Given the description of an element on the screen output the (x, y) to click on. 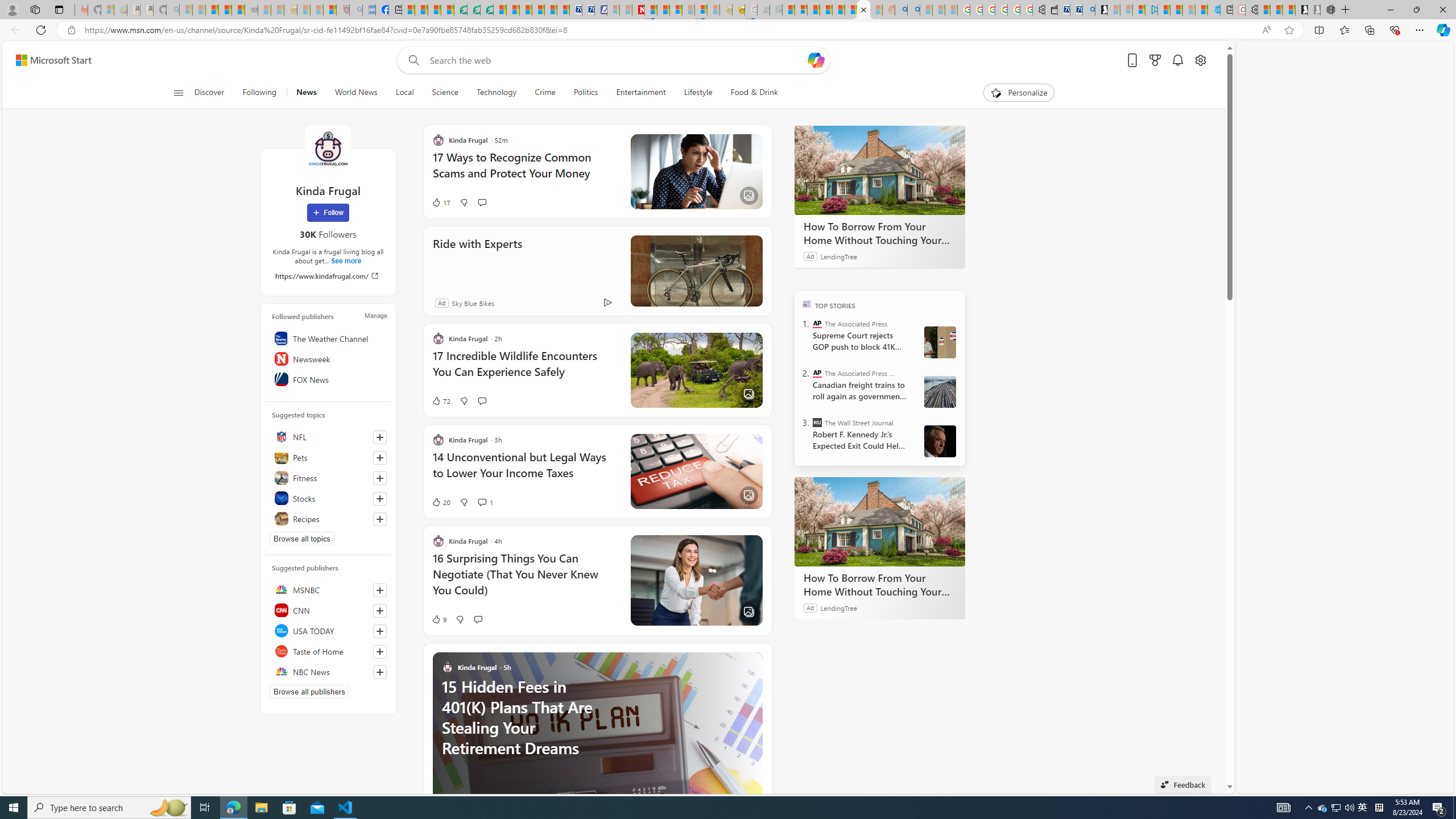
Manage (375, 315)
LendingTree - Compare Lenders (460, 9)
World - MSN (434, 9)
Microsoft Start - Sleeping (1188, 9)
https://www.kindafrugal.com/ (327, 275)
Follow (328, 212)
World News (355, 92)
Microsoft account | Privacy - Sleeping (1126, 9)
17 Like (440, 202)
Fitness (327, 477)
